Given the description of an element on the screen output the (x, y) to click on. 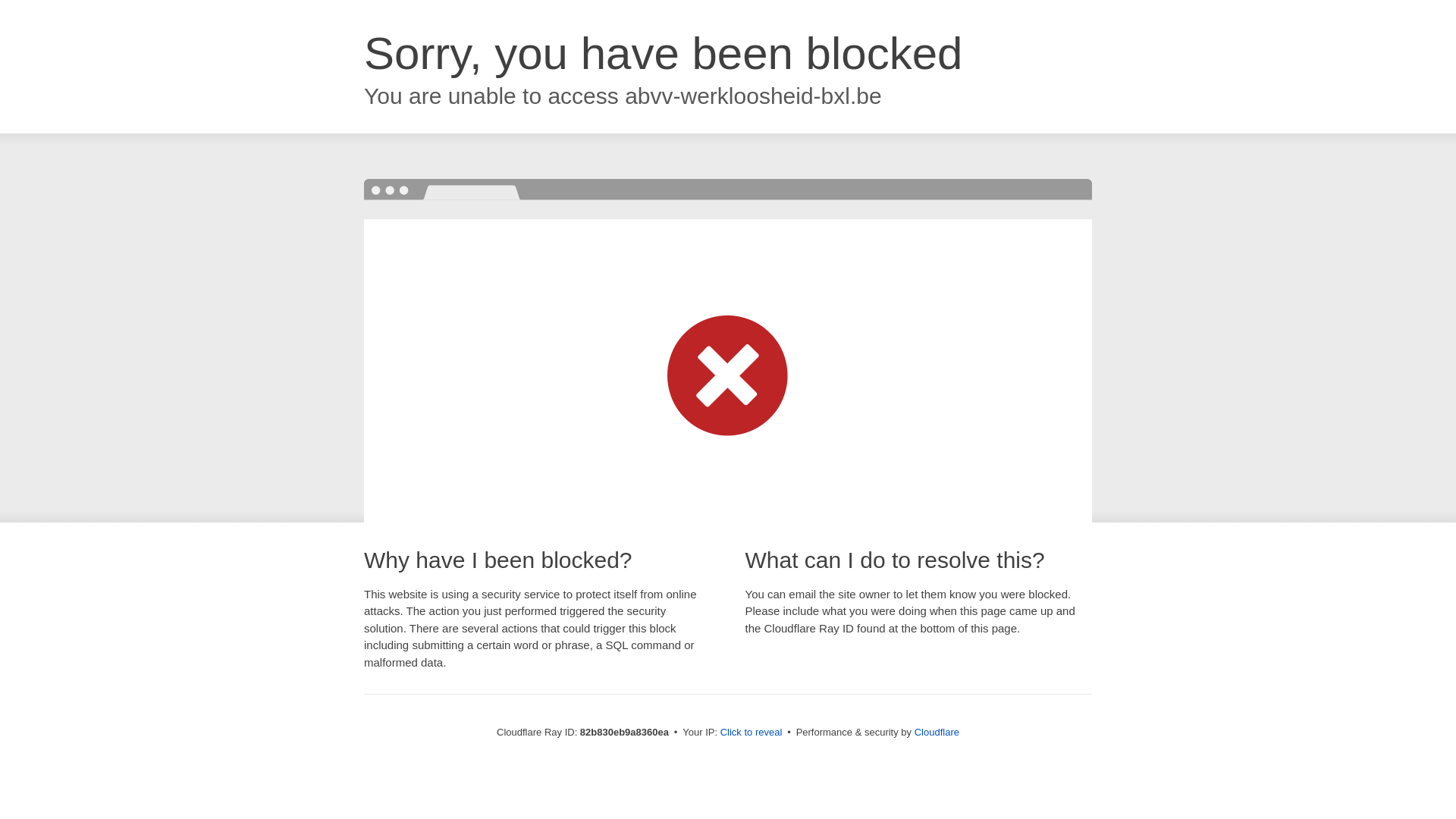
Cloudflare Element type: text (936, 731)
Click to reveal Element type: text (751, 732)
